Given the description of an element on the screen output the (x, y) to click on. 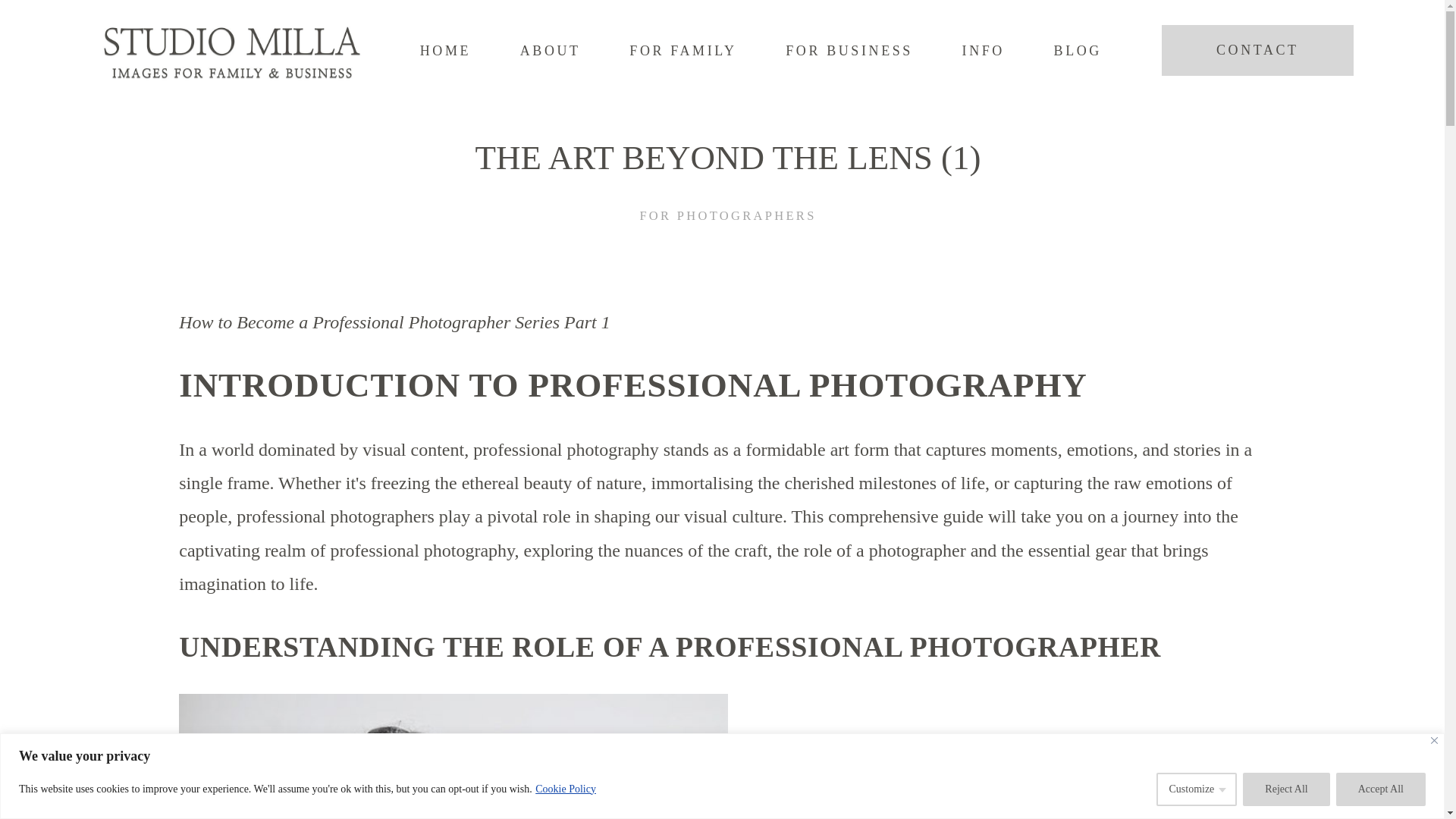
FOR FAMILY (682, 50)
HOME (445, 50)
INFO (983, 50)
Reject All (1286, 788)
ABOUT (549, 50)
FOR BUSINESS (849, 50)
Customize (1196, 788)
Cookie Policy (565, 788)
BLOG (1078, 50)
FOR PHOTOGRAPHERS (727, 216)
Accept All (1380, 788)
CONTACT (1257, 50)
